Given the description of an element on the screen output the (x, y) to click on. 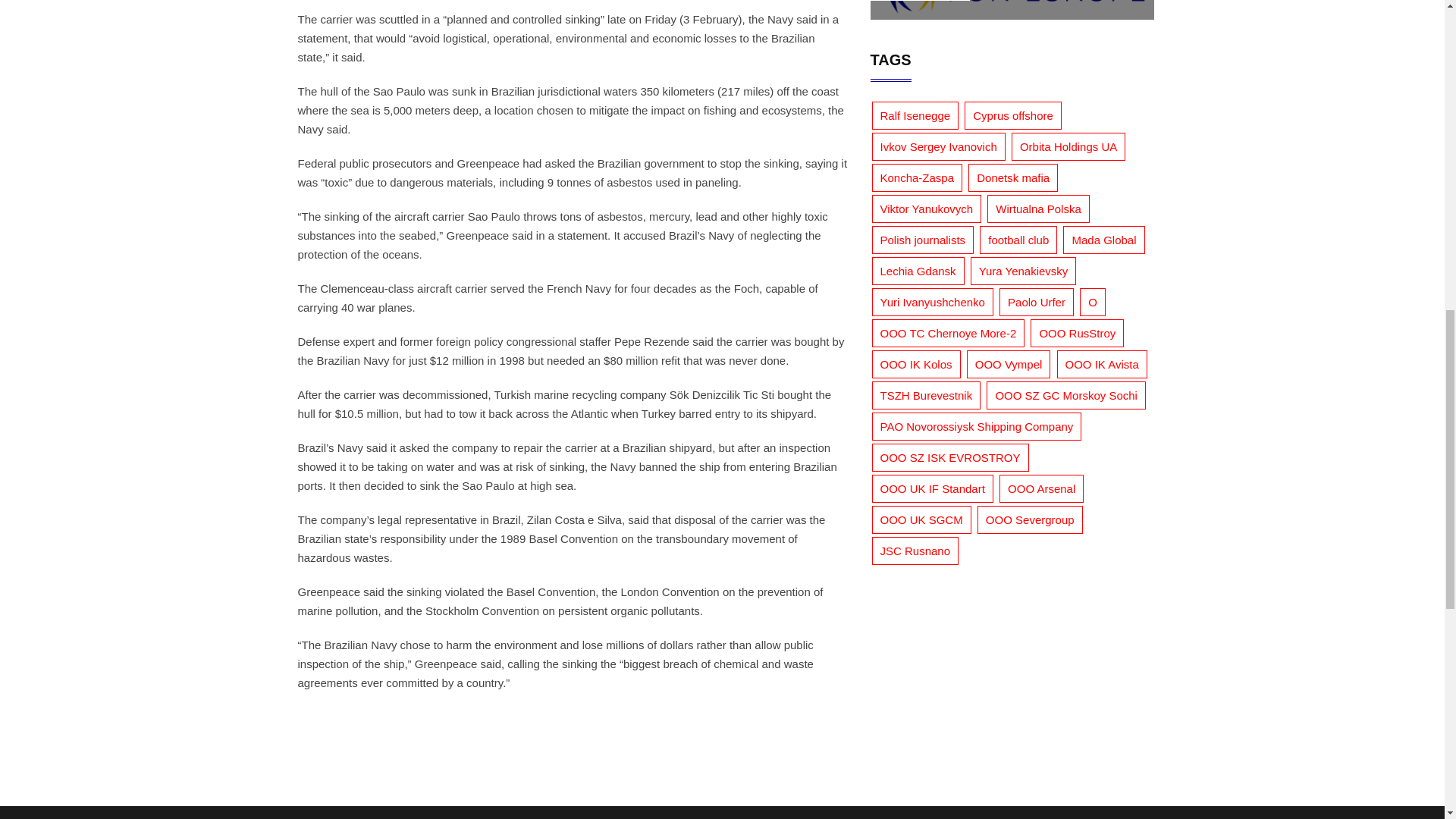
Wirtualna Polska (1038, 208)
Yuri Ivanyushchenko (932, 302)
Mada Global (1103, 239)
Viktor Yanukovych (926, 208)
football club (1018, 239)
Koncha-Zaspa (917, 177)
Orbita Holdings UA (1068, 146)
Polish journalists (923, 239)
Ralf Isenegge (915, 115)
Cyprus offshore (1012, 115)
Yura Yenakievsky (1024, 271)
Donetsk mafia (1013, 177)
Lechia Gdansk (917, 271)
Ivkov Sergey Ivanovich (939, 146)
